Given the description of an element on the screen output the (x, y) to click on. 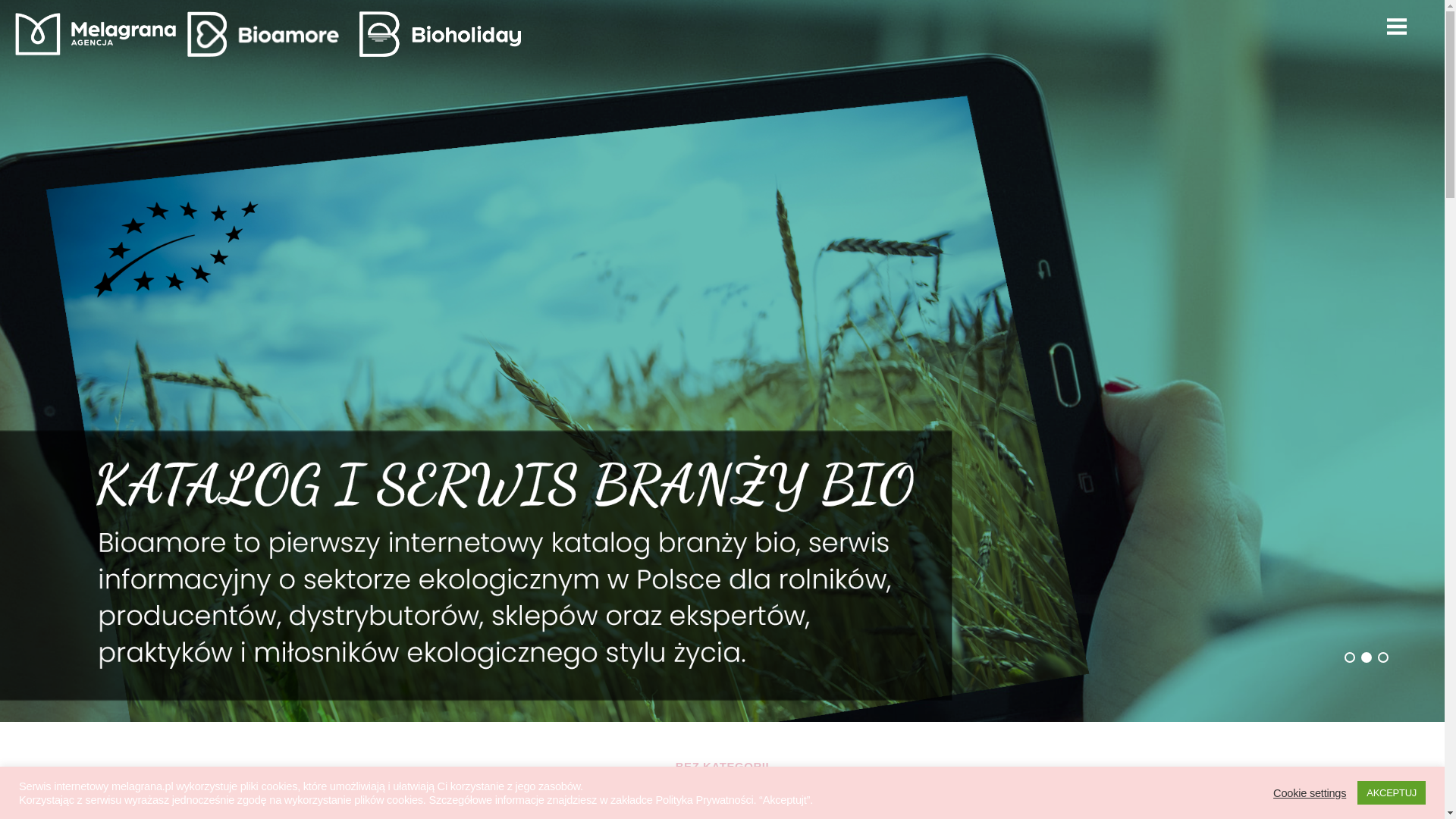
BEZ KATEGORII (722, 767)
